Given the description of an element on the screen output the (x, y) to click on. 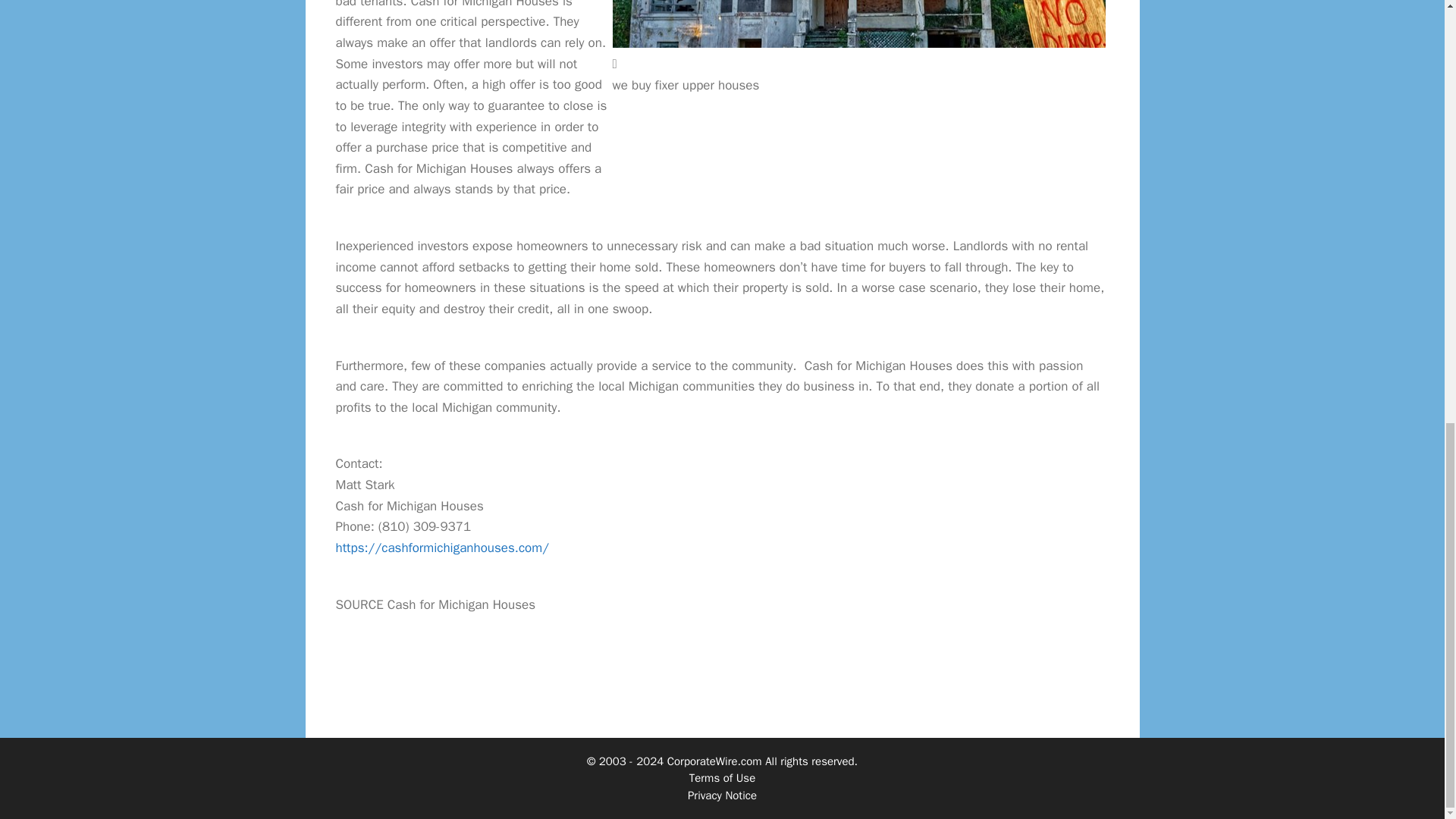
Privacy Notice (722, 795)
we buy fixer upper houses (858, 23)
Terms of Use (721, 777)
